Given the description of an element on the screen output the (x, y) to click on. 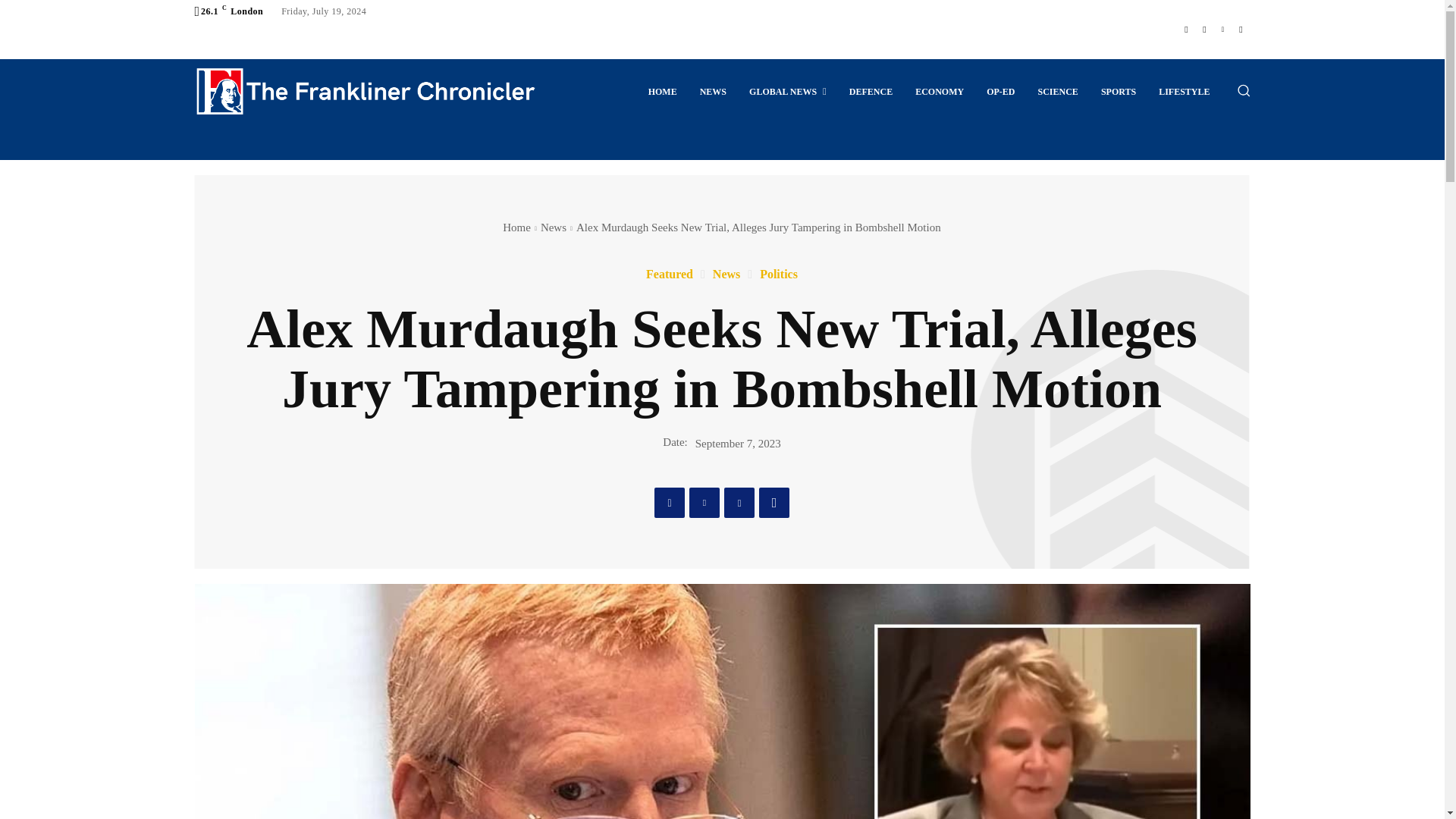
Facebook (1185, 29)
Pinterest (738, 502)
WhatsApp (773, 502)
Youtube (1240, 29)
Instagram (1203, 29)
Twitter (703, 502)
View all posts in News (553, 227)
Facebook (668, 502)
Twitter (1221, 29)
